Given the description of an element on the screen output the (x, y) to click on. 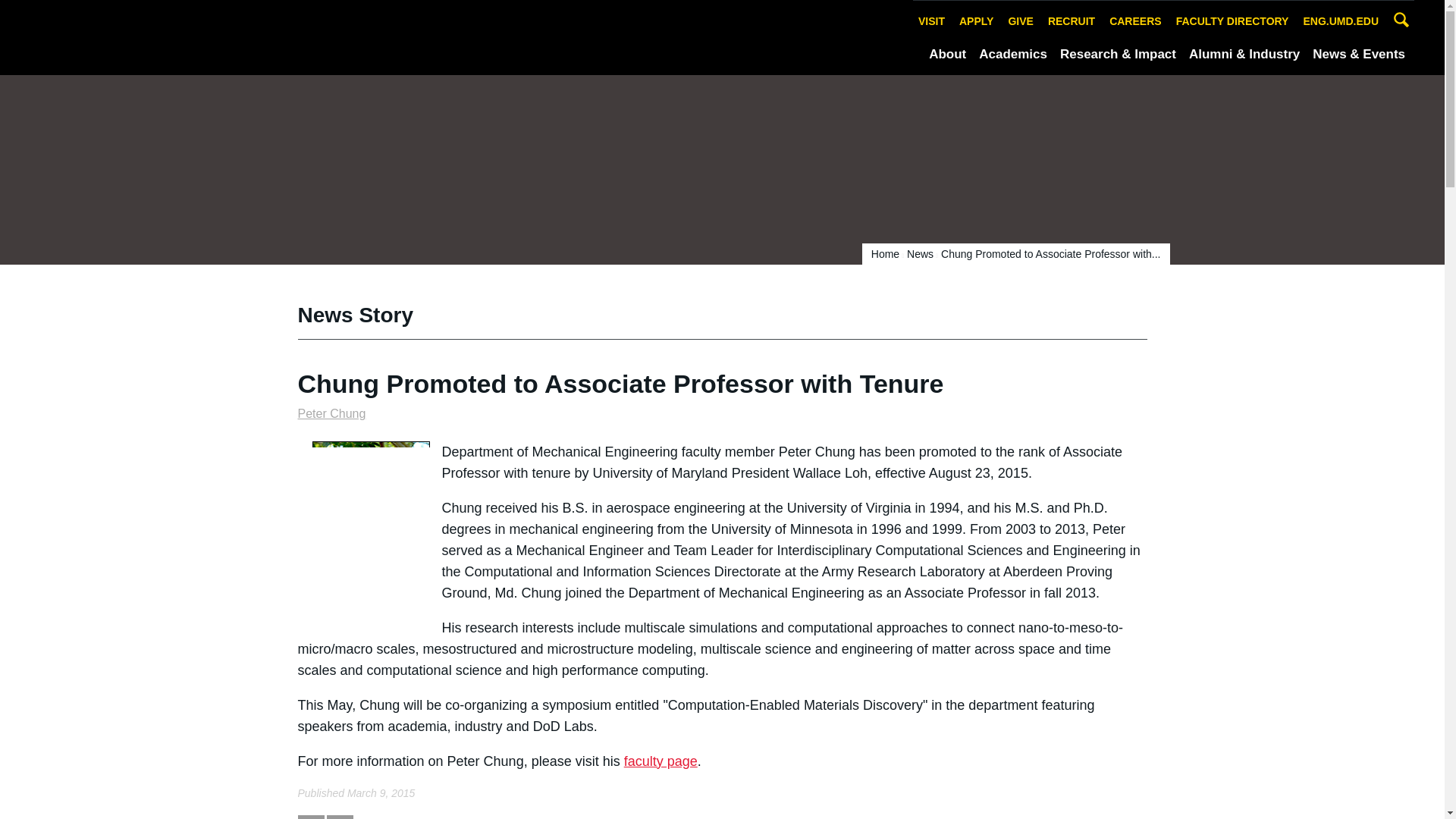
FACULTY DIRECTORY (1232, 22)
ENG.UMD.EDU (1340, 22)
CAREERS (1134, 22)
RECRUIT (1071, 22)
APPLY (975, 22)
VISIT (931, 22)
GIVE (1020, 22)
A. James Clark School of Engineering, University of Maryland (188, 36)
